Given the description of an element on the screen output the (x, y) to click on. 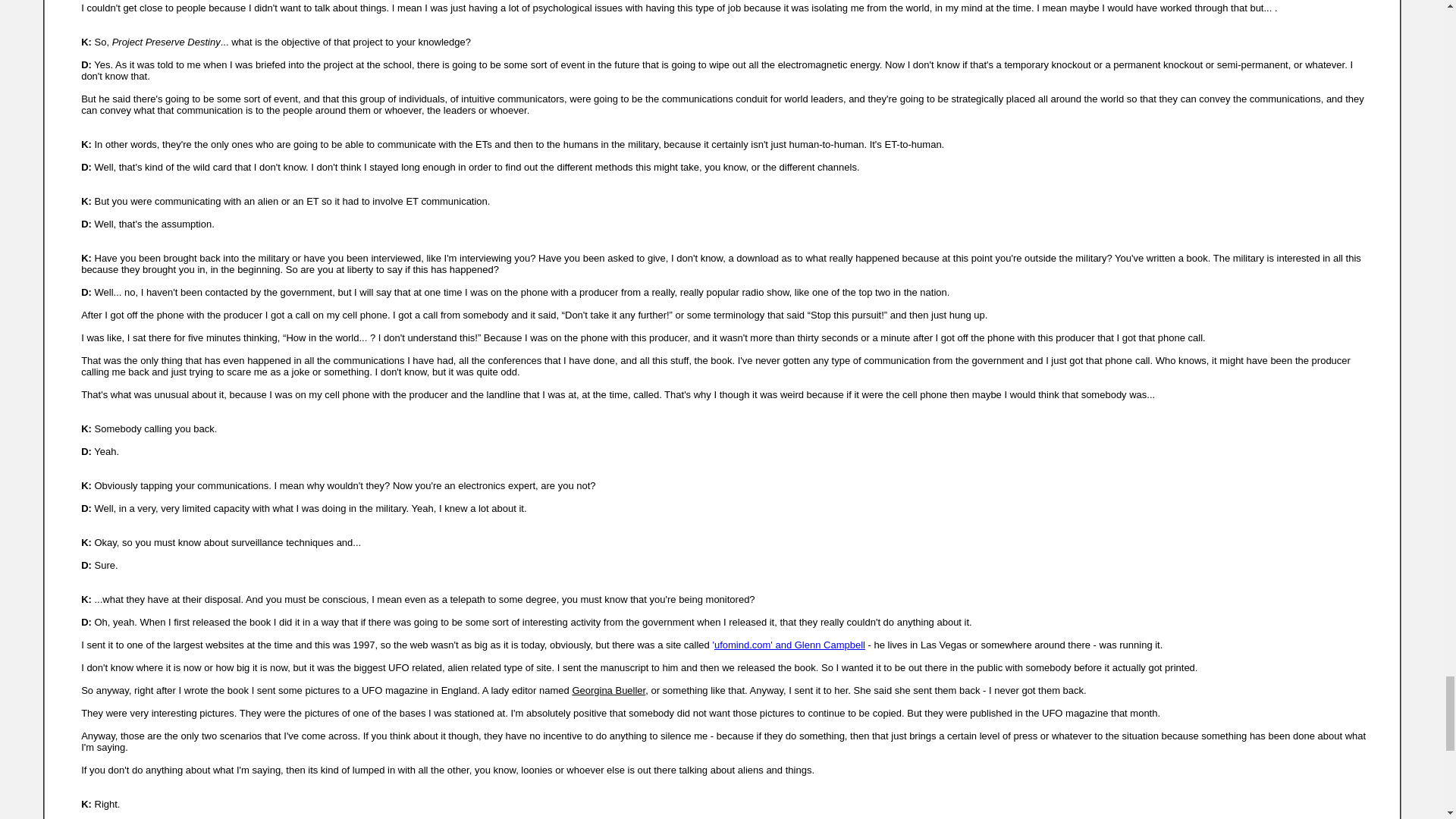
ufomind.com' and Glenn Campbell (789, 644)
